Given the description of an element on the screen output the (x, y) to click on. 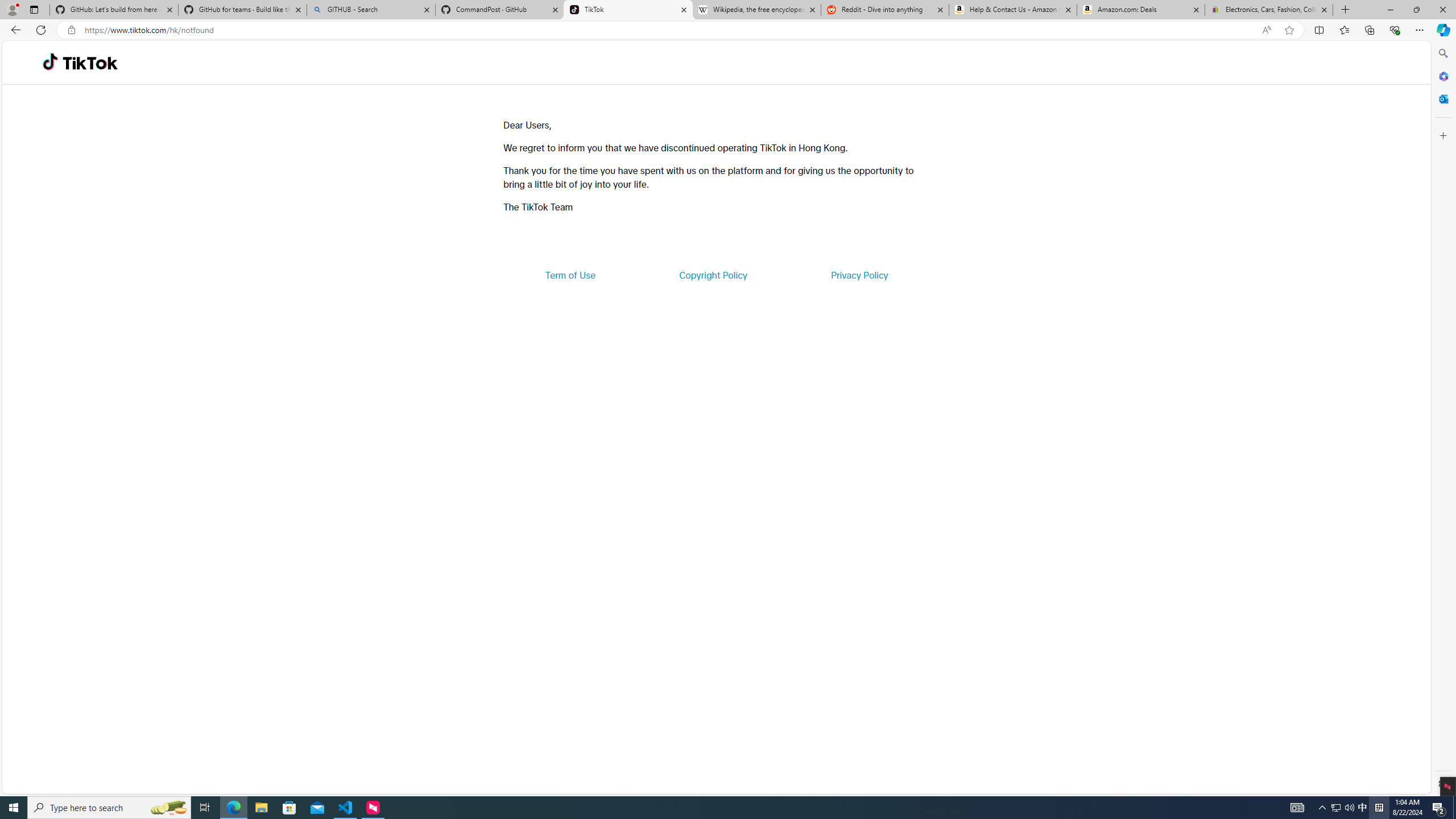
Term of Use (569, 274)
Help & Contact Us - Amazon Customer Service (1012, 9)
Amazon.com: Deals (1140, 9)
TikTok (89, 62)
GITHUB - Search (370, 9)
